Given the description of an element on the screen output the (x, y) to click on. 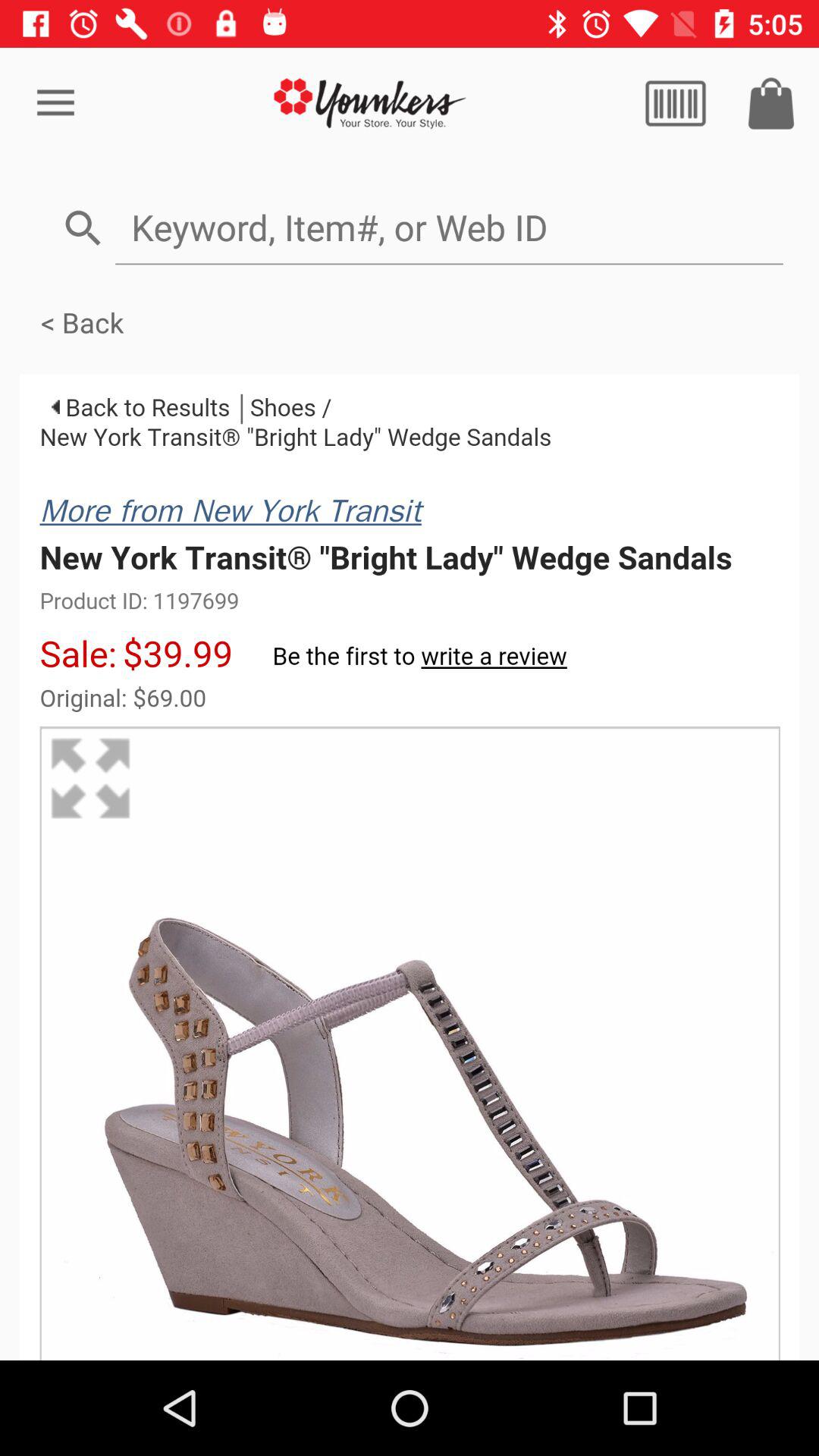
search for a product (449, 227)
